Given the description of an element on the screen output the (x, y) to click on. 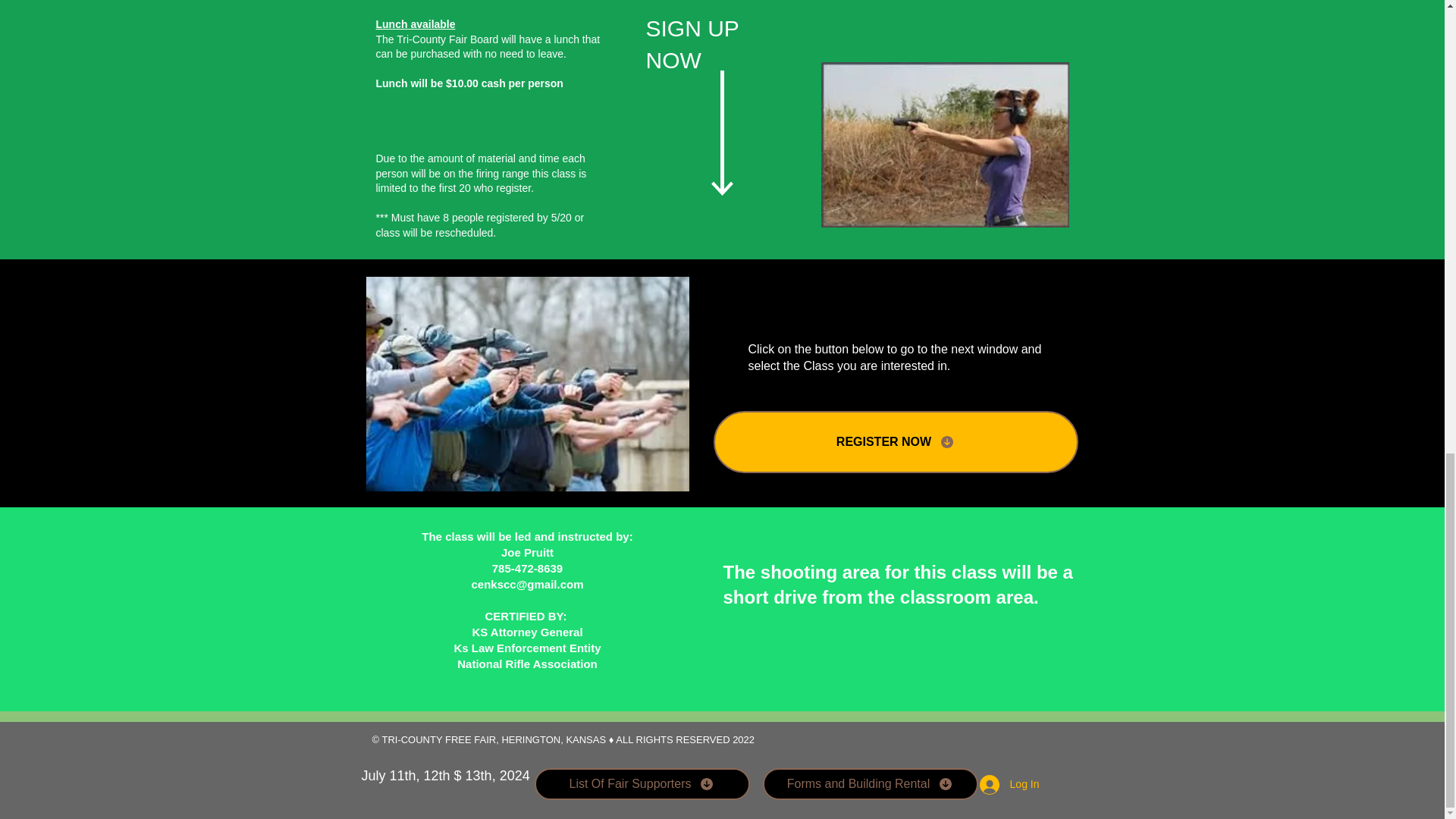
Forms and Building Rental (870, 784)
REGISTER NOW (895, 442)
List Of Fair Supporters (641, 784)
Log In (1009, 784)
